Given the description of an element on the screen output the (x, y) to click on. 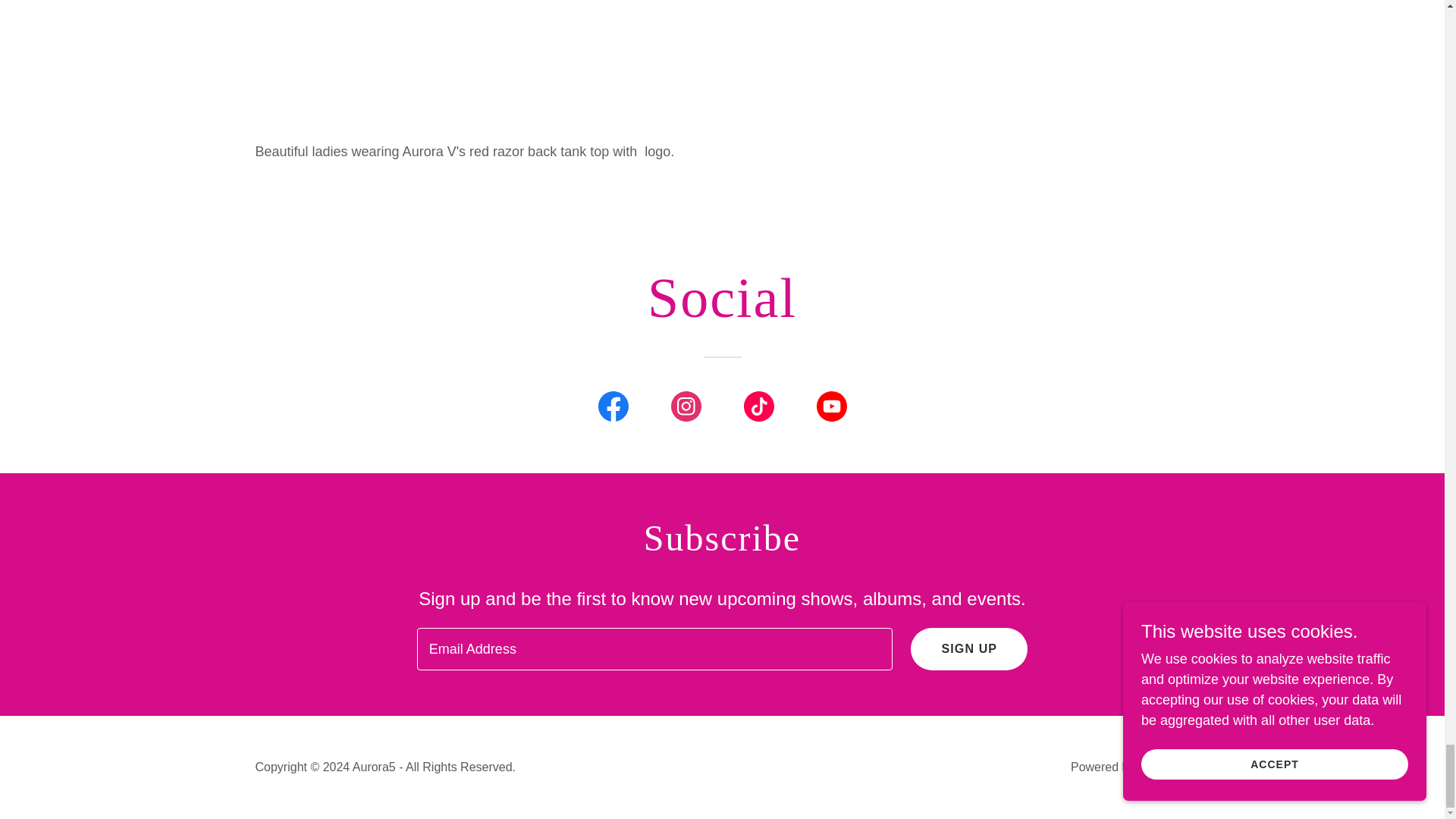
SIGN UP (969, 649)
GoDaddy (1163, 766)
